Given the description of an element on the screen output the (x, y) to click on. 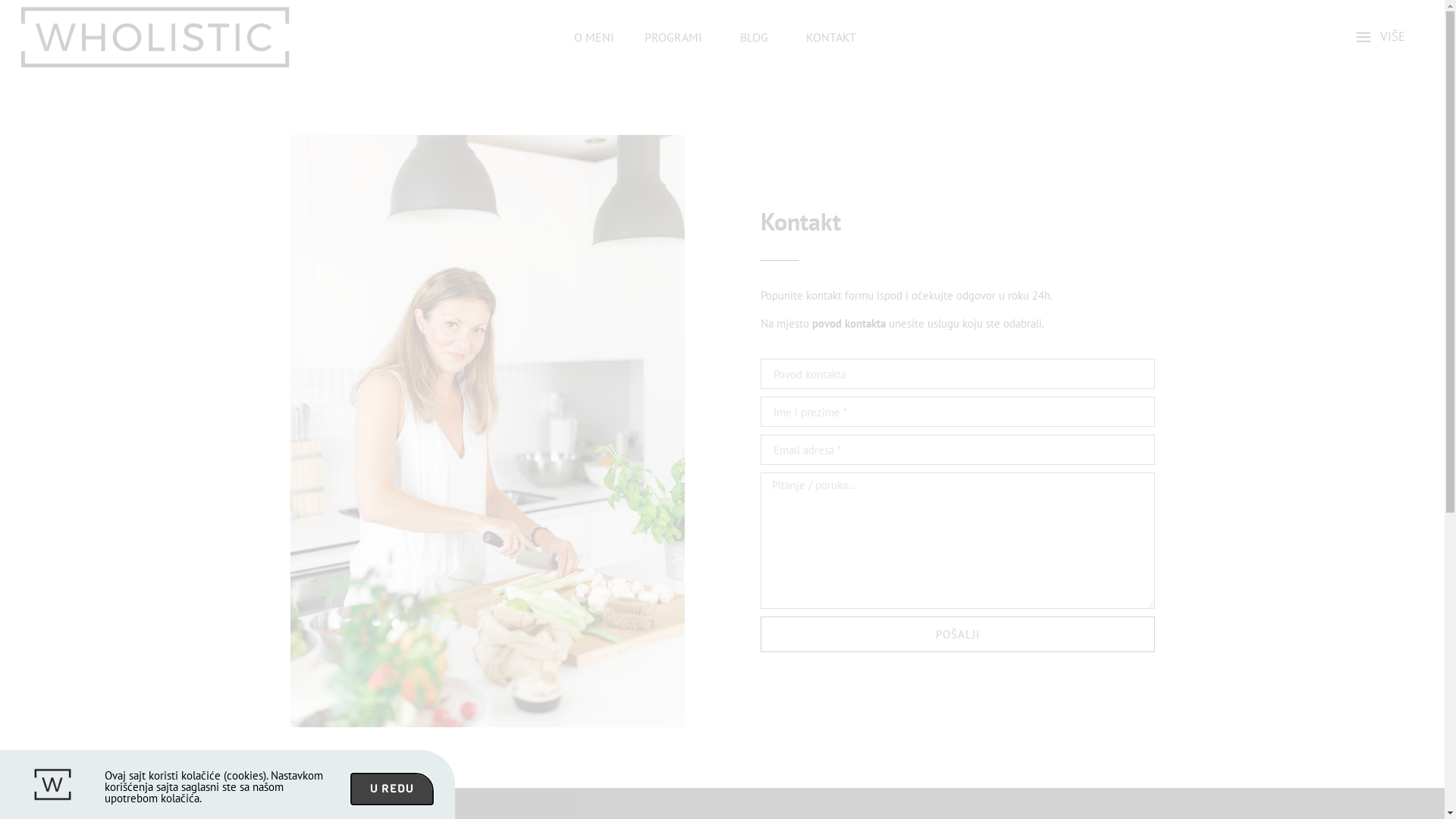
KONTAKT Element type: text (830, 36)
U REDU Element type: text (391, 788)
PROGRAMI Element type: text (676, 36)
BLOG Element type: text (757, 36)
O MENI Element type: text (593, 36)
